Given the description of an element on the screen output the (x, y) to click on. 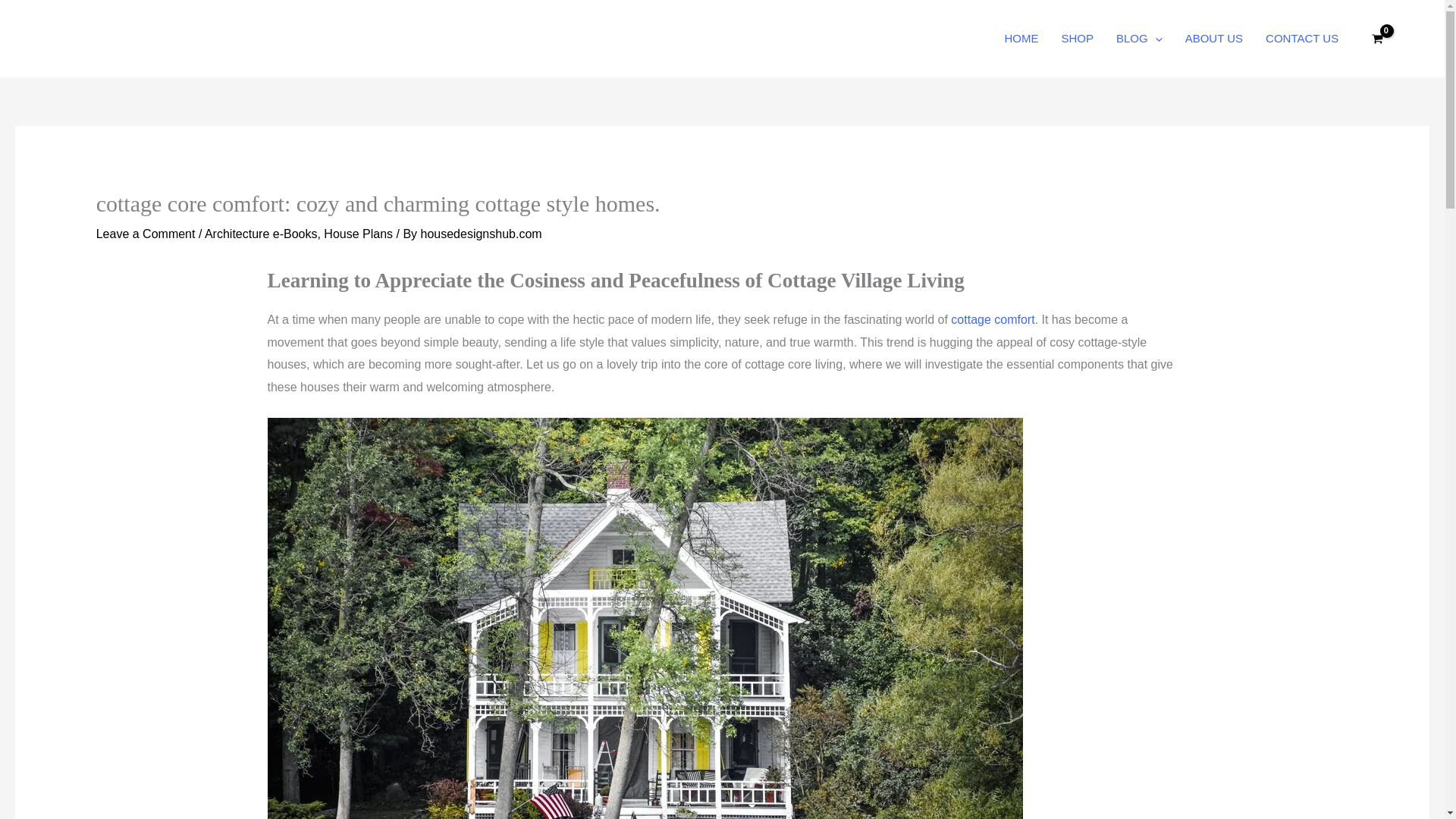
ABOUT US (1213, 38)
BLOG (1139, 38)
Leave a Comment (145, 233)
cottage comfort (991, 318)
SHOP (1077, 38)
Architecture e-Books (261, 233)
CONTACT US (1301, 38)
housedesignshub.com (480, 233)
House Plans (358, 233)
View all posts by housedesignshub.com (480, 233)
HOME (1020, 38)
